Given the description of an element on the screen output the (x, y) to click on. 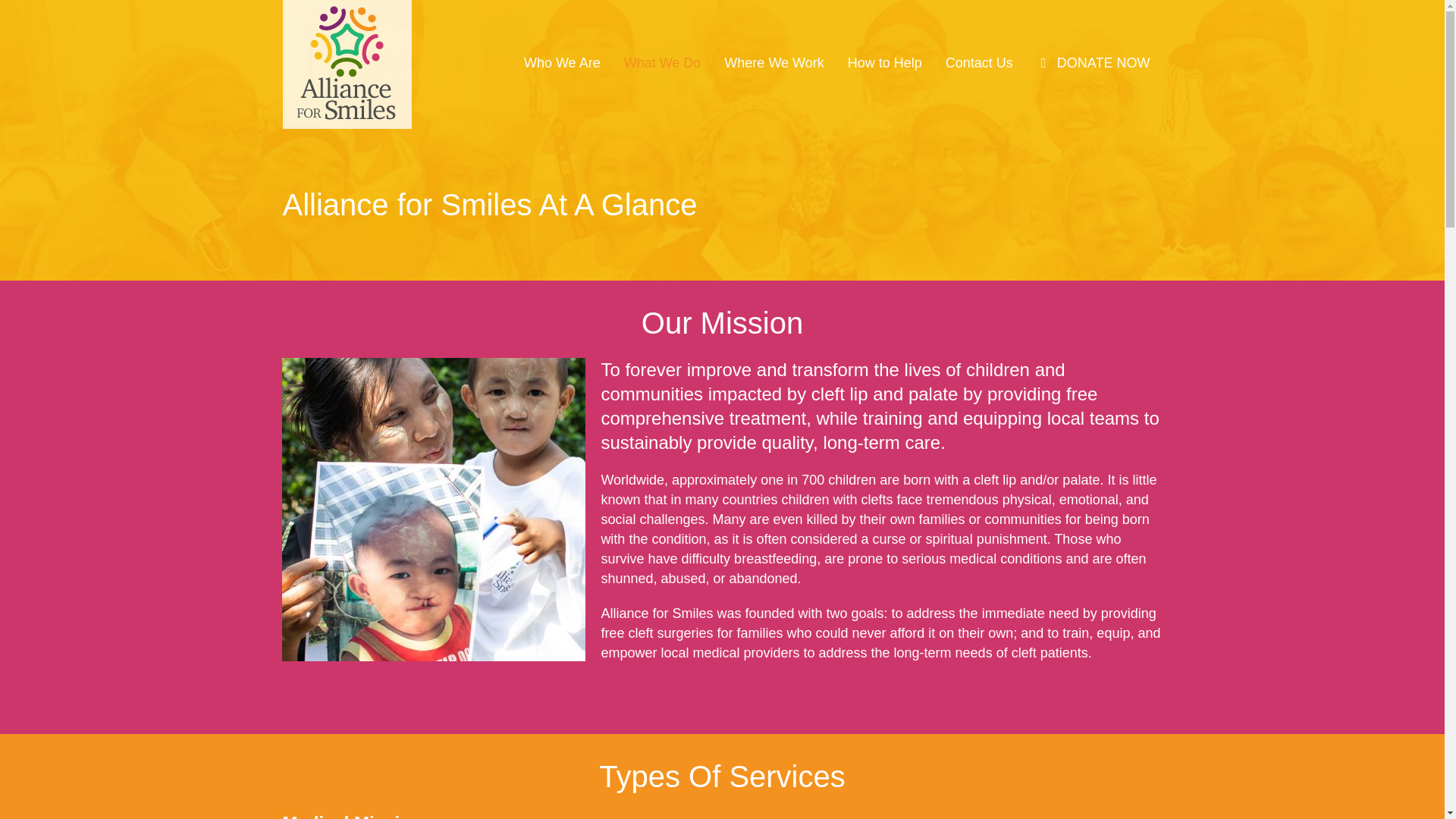
Where We Work (773, 61)
Thank you! (1093, 61)
How to Help (884, 61)
What We Do (662, 61)
Who We Are (561, 61)
